Given the description of an element on the screen output the (x, y) to click on. 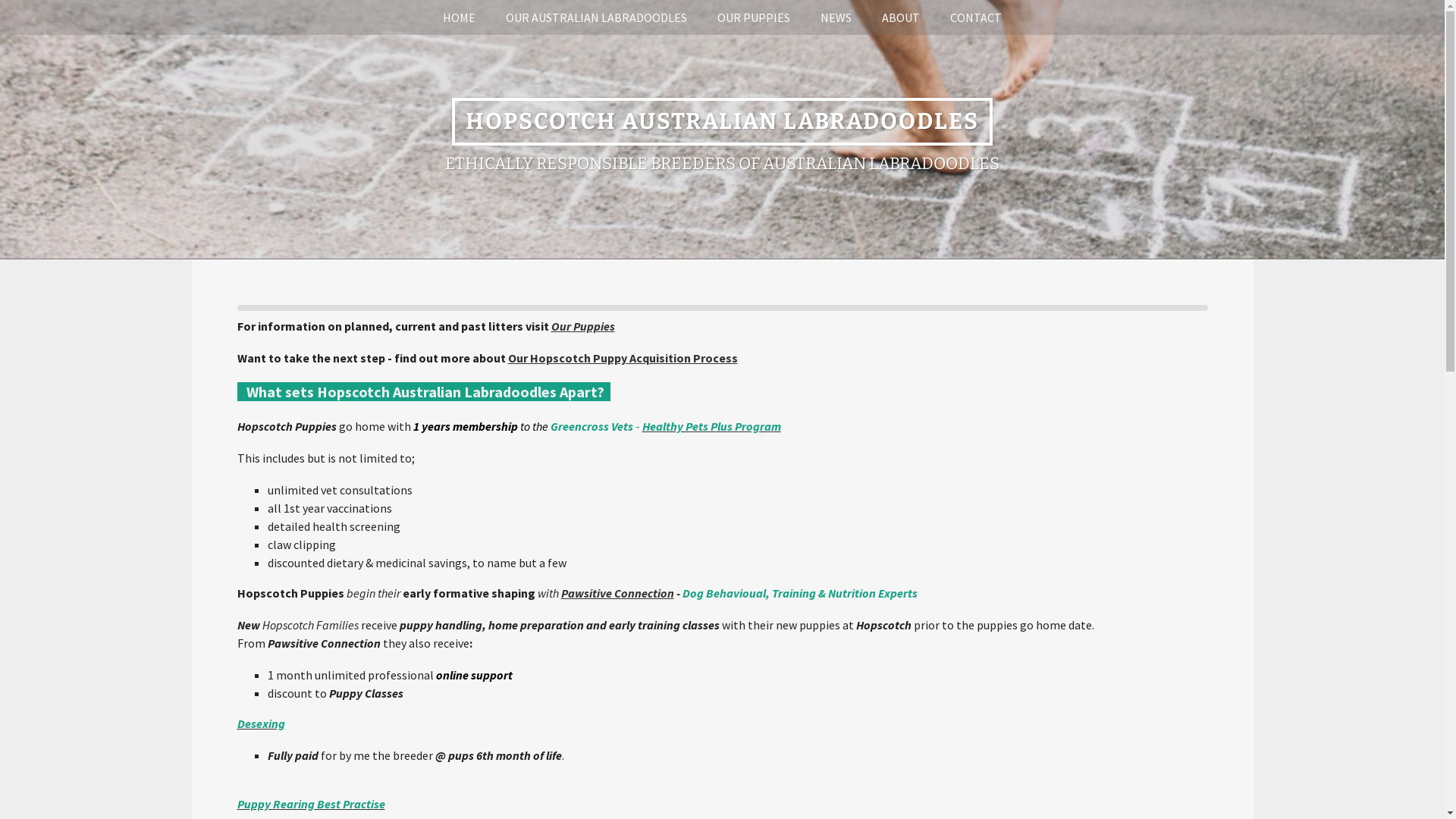
Puppy Rearing Best Practise Element type: text (310, 803)
CONTACT Element type: text (975, 17)
OUR AUSTRALIAN LABRADOODLES Element type: text (596, 17)
Our Puppies Element type: text (582, 325)
HOPSCOTCH AUSTRALIAN LABRADOODLES Element type: text (721, 123)
Pawsitive Connection Element type: text (617, 592)
ABOUT Element type: text (900, 17)
OUR PUPPIES Element type: text (753, 17)
Desexing Element type: text (260, 723)
HOME Element type: text (458, 17)
NEWS Element type: text (835, 17)
Our Hopscotch Puppy Acquisition Process Element type: text (622, 357)
Healthy Pets Plus Program Element type: text (710, 425)
